Given the description of an element on the screen output the (x, y) to click on. 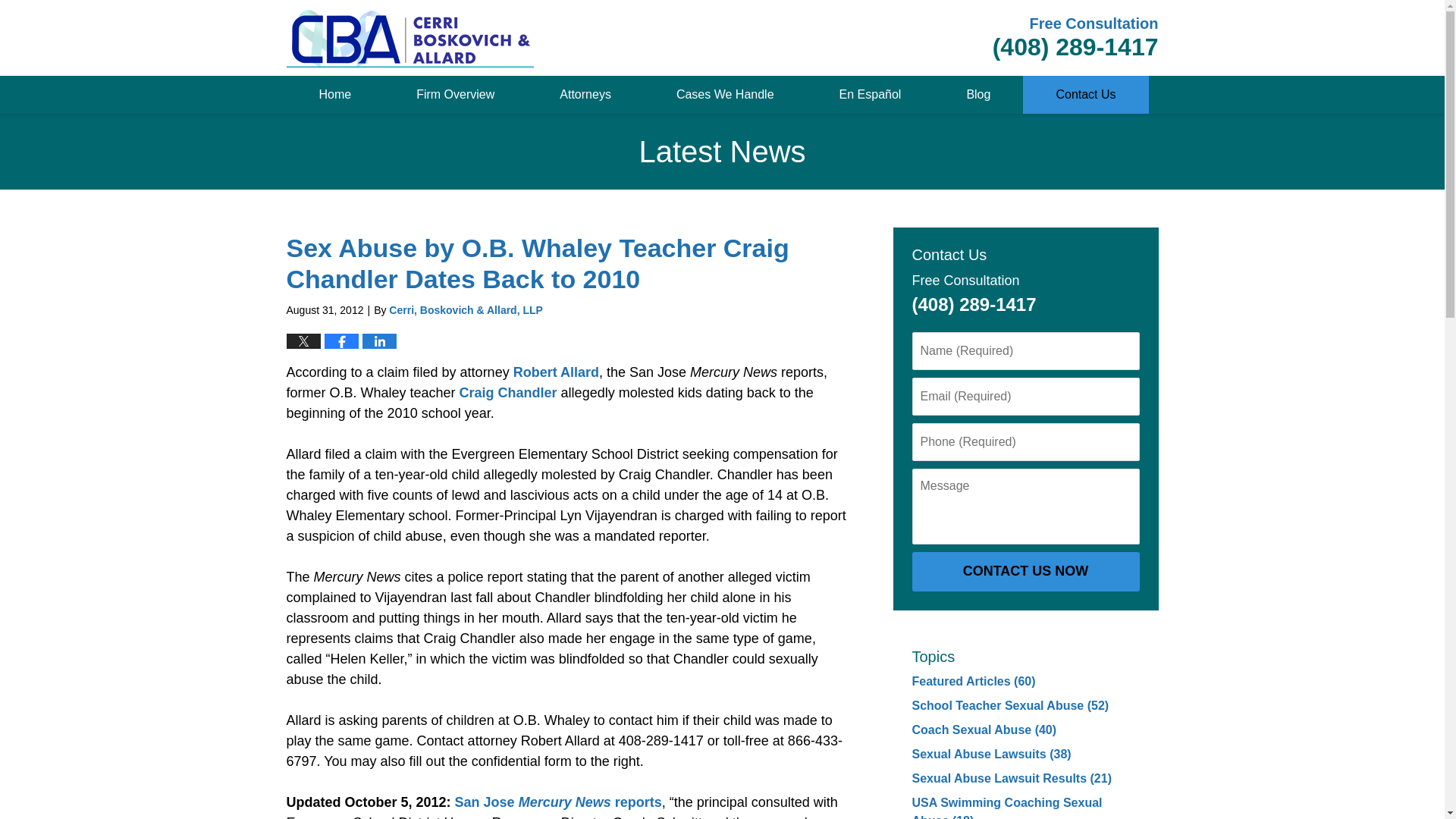
Cases We Handle (724, 94)
Contact Us (1085, 94)
Craig Chandler Molestation (508, 392)
Robert Allard, Protecting Children from Sexual Abuse (555, 372)
Attorneys (585, 94)
Please enter a valid phone number. (1024, 442)
Craig Chandler Molestation (558, 801)
Home (335, 94)
Firm Overview (455, 94)
Blog (978, 94)
Latest News (410, 37)
